Given the description of an element on the screen output the (x, y) to click on. 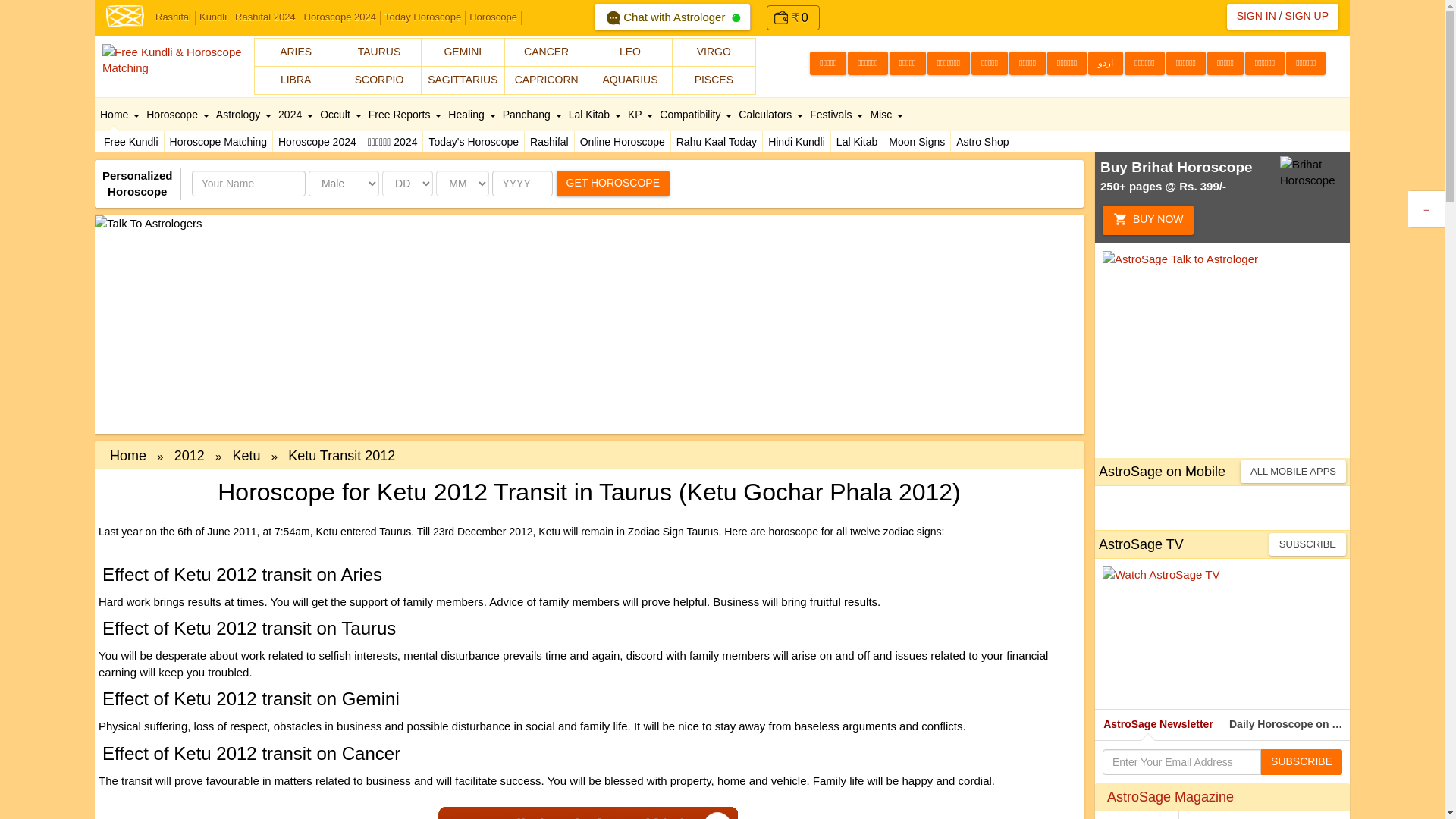
GEMINI (462, 52)
Nepali (1185, 63)
Malayalam (1066, 63)
Today Horoscope (422, 17)
Rashifal 2024 (265, 17)
Kundli (213, 17)
ARIES (295, 52)
LEO (629, 52)
AQUARIUS (629, 80)
SAGITTARIUS (462, 80)
